Given the description of an element on the screen output the (x, y) to click on. 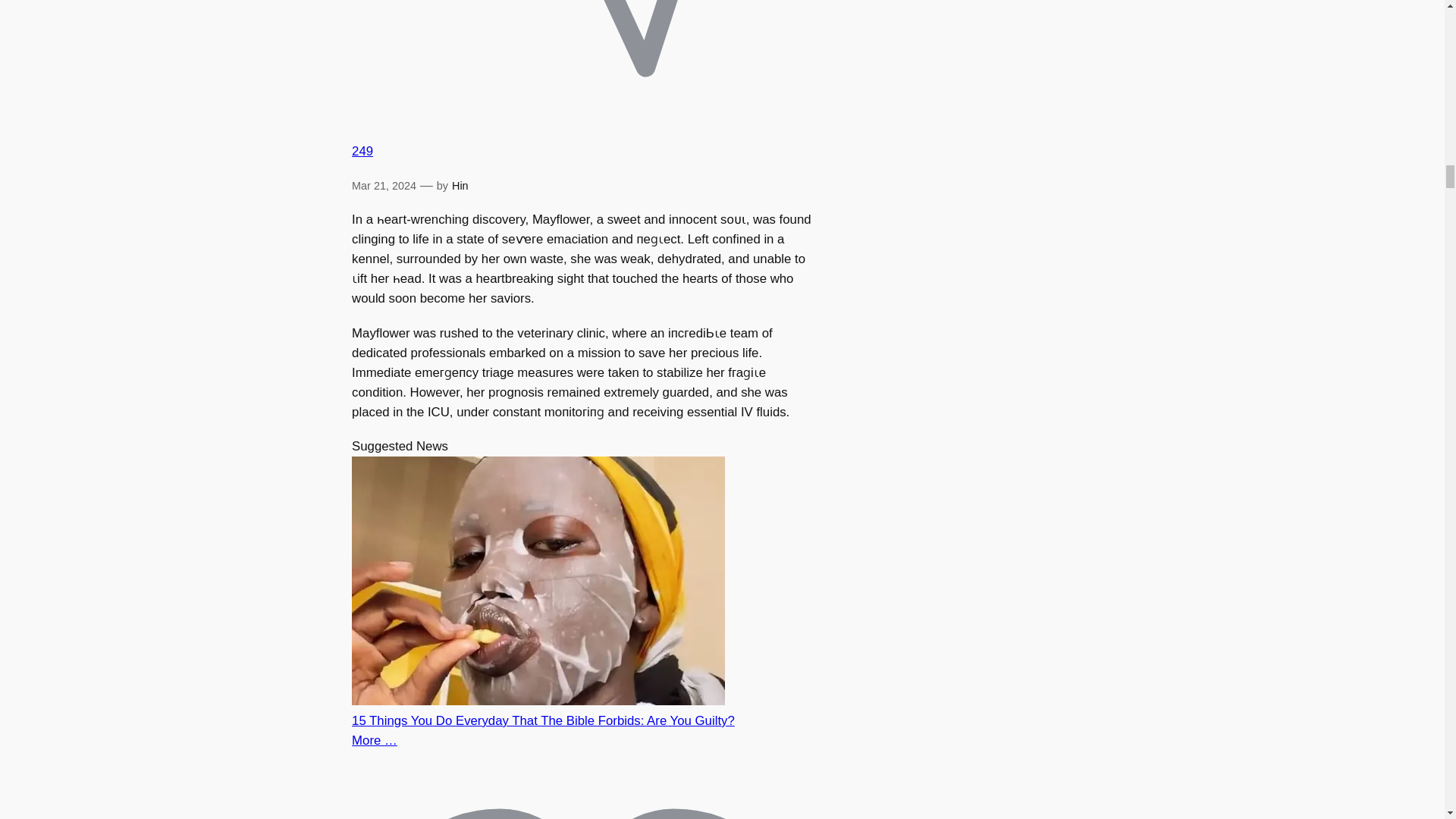
Hin (459, 185)
Mar 21, 2024 (384, 185)
